Given the description of an element on the screen output the (x, y) to click on. 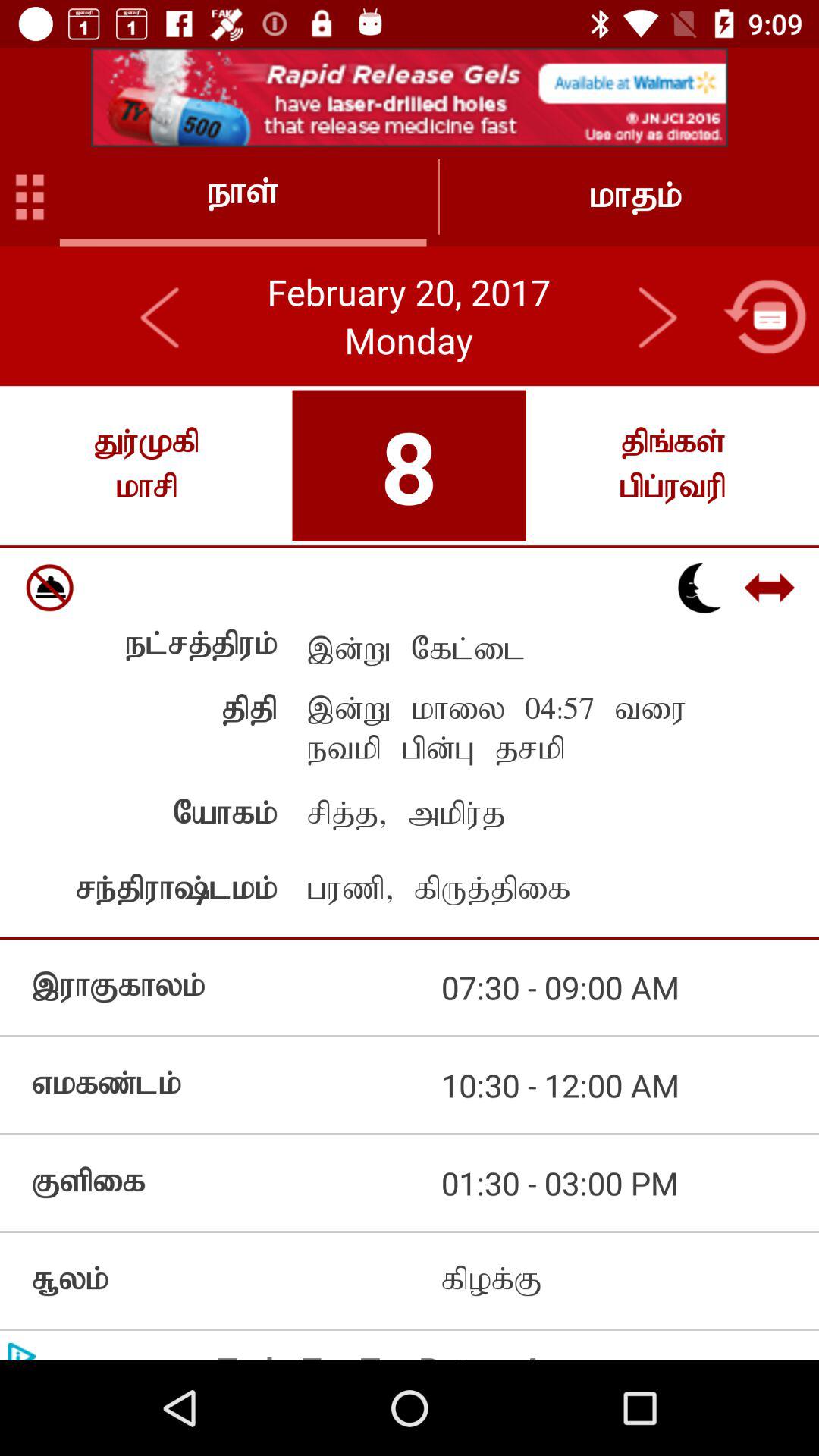
go back (764, 316)
